Given the description of an element on the screen output the (x, y) to click on. 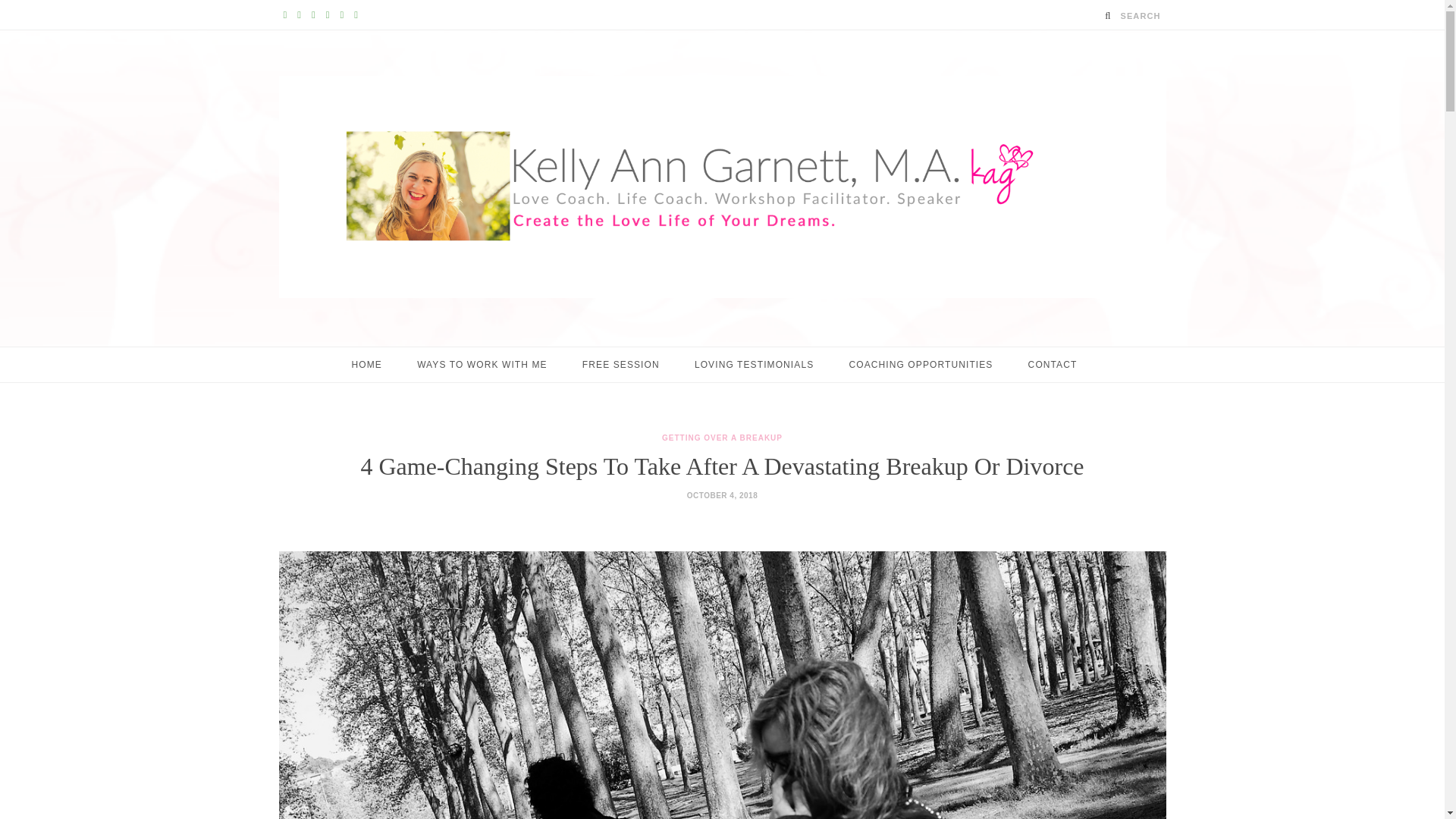
CONTACT (1052, 363)
FREE SESSION (620, 363)
COACHING OPPORTUNITIES (920, 363)
GETTING OVER A BREAKUP (722, 438)
WAYS TO WORK WITH ME (482, 363)
HOME (366, 363)
LOVING TESTIMONIALS (753, 363)
OCTOBER 4, 2018 (722, 495)
